Given the description of an element on the screen output the (x, y) to click on. 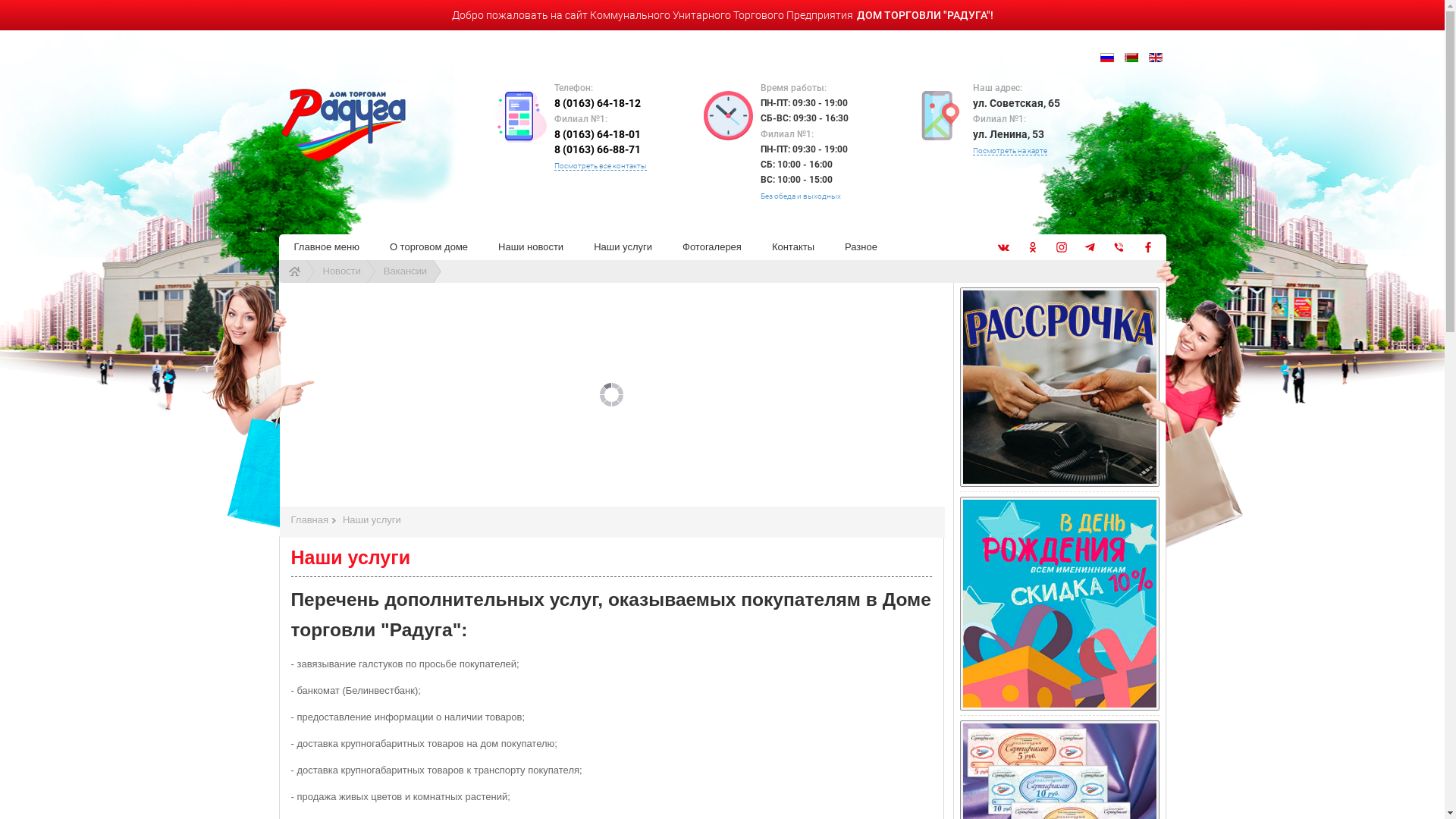
8 (0163) 64-18-12 Element type: text (596, 103)
8 (0163) 66-88-71 Element type: text (596, 149)
English (UK) Element type: hover (1154, 57)
Belarusian (be-BY) Element type: hover (1131, 57)
8 (0163) 64-18-01 Element type: text (596, 134)
